Given the description of an element on the screen output the (x, y) to click on. 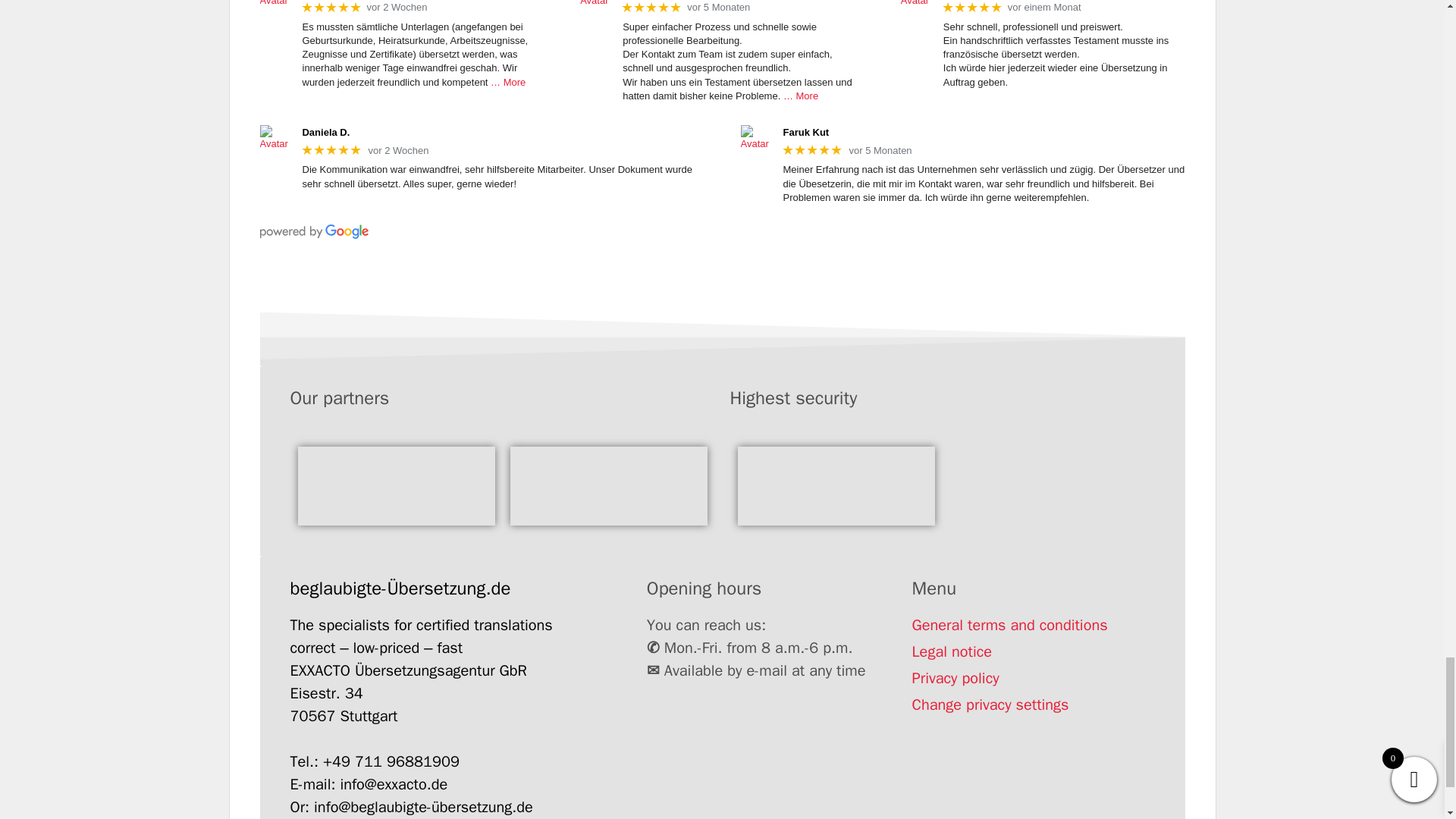
Powered by Google (313, 231)
SSL-Secure-Connection (835, 485)
Footer Menu 2 (607, 485)
Footer Menu 1 (396, 485)
